Given the description of an element on the screen output the (x, y) to click on. 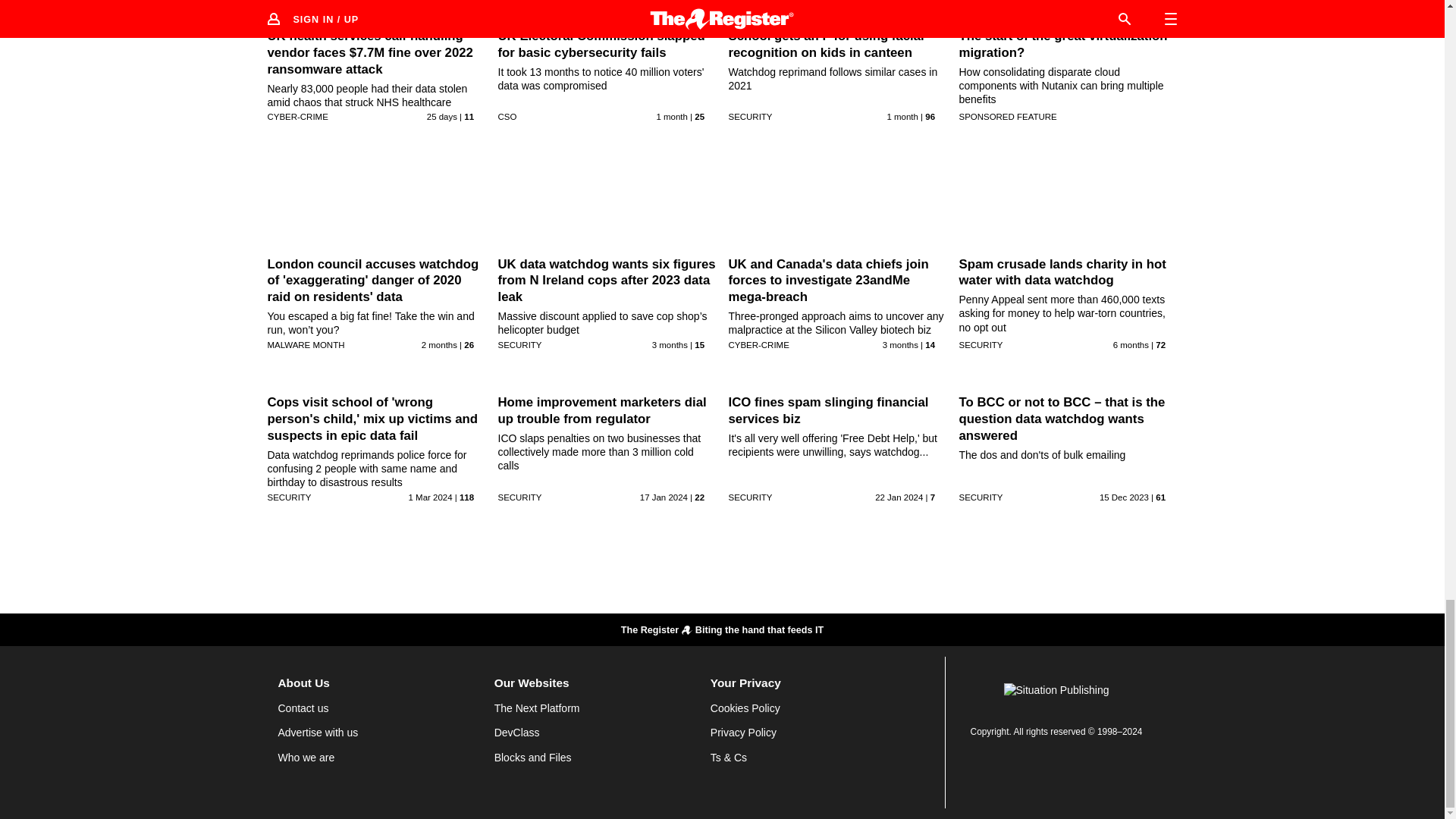
23 May 2024 8:30 (669, 344)
24 Jul 2024 8:32 (901, 116)
17 Jul 2024 11:45 (439, 344)
7 Aug 2024 8:26 (441, 116)
11 Jun 2024 13:30 (900, 344)
1 Mar 2024 12:40 (430, 497)
31 Jul 2024 8:30 (671, 116)
5 Mar 2024 9:30 (1130, 344)
17 Jan 2024 9:30 (663, 497)
